Given the description of an element on the screen output the (x, y) to click on. 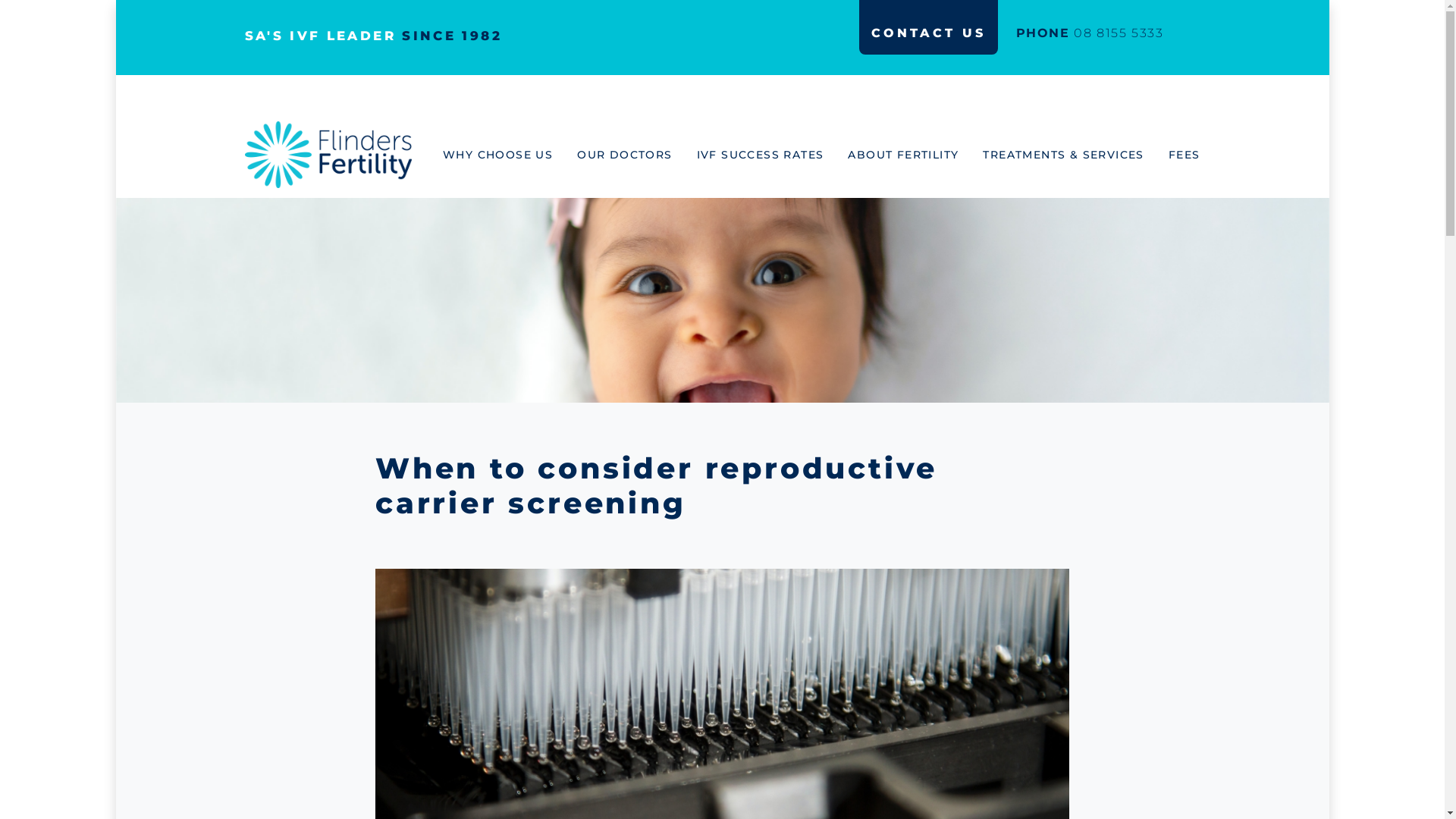
ABOUT FERTILITY Element type: text (914, 155)
TREATMENTS & SERVICES Element type: text (1074, 155)
Flinders Fertility Element type: hover (327, 154)
IVF SUCCESS RATES Element type: text (772, 155)
CONTACT US Element type: text (928, 32)
OUR DOCTORS Element type: text (636, 155)
WHY CHOOSE US Element type: text (509, 155)
FEES Element type: text (1184, 155)
